Given the description of an element on the screen output the (x, y) to click on. 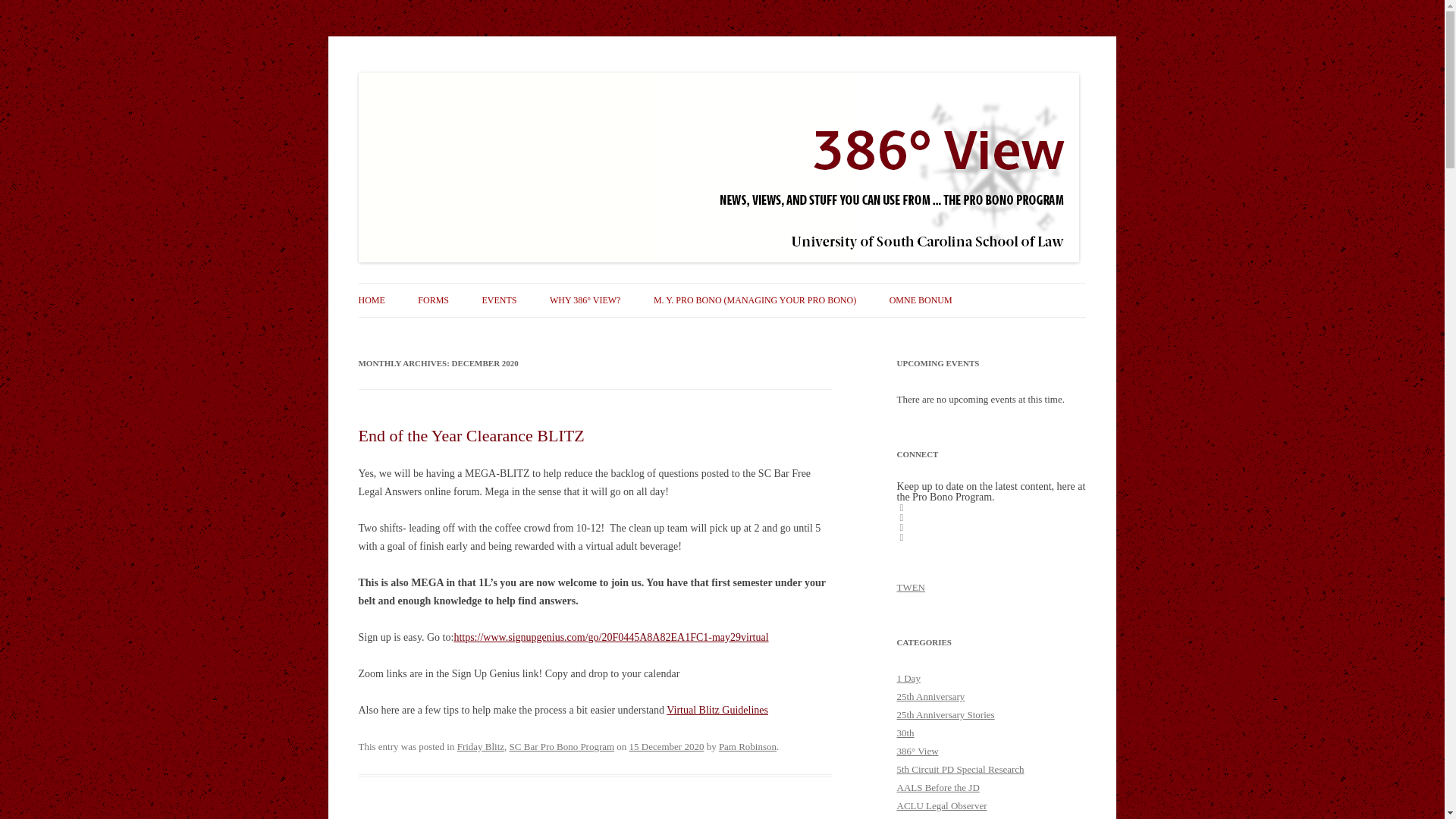
OMNE BONUM (920, 299)
Pam Robinson (747, 746)
Friday Blitz (480, 746)
FORMS (432, 299)
15 December 2020 (666, 746)
Subscribe via RSS (900, 537)
9:32 AM (666, 746)
Pro Bono Program (437, 72)
Pro Bono Program (437, 72)
View all posts by Pam Robinson (747, 746)
SC Bar Pro Bono Program (561, 746)
Virtual Blitz Guidelines (717, 709)
PRO BONO PROGRAM WEBSITE (433, 332)
EVENTS (498, 299)
End of the Year Clearance BLITZ (470, 435)
